Given the description of an element on the screen output the (x, y) to click on. 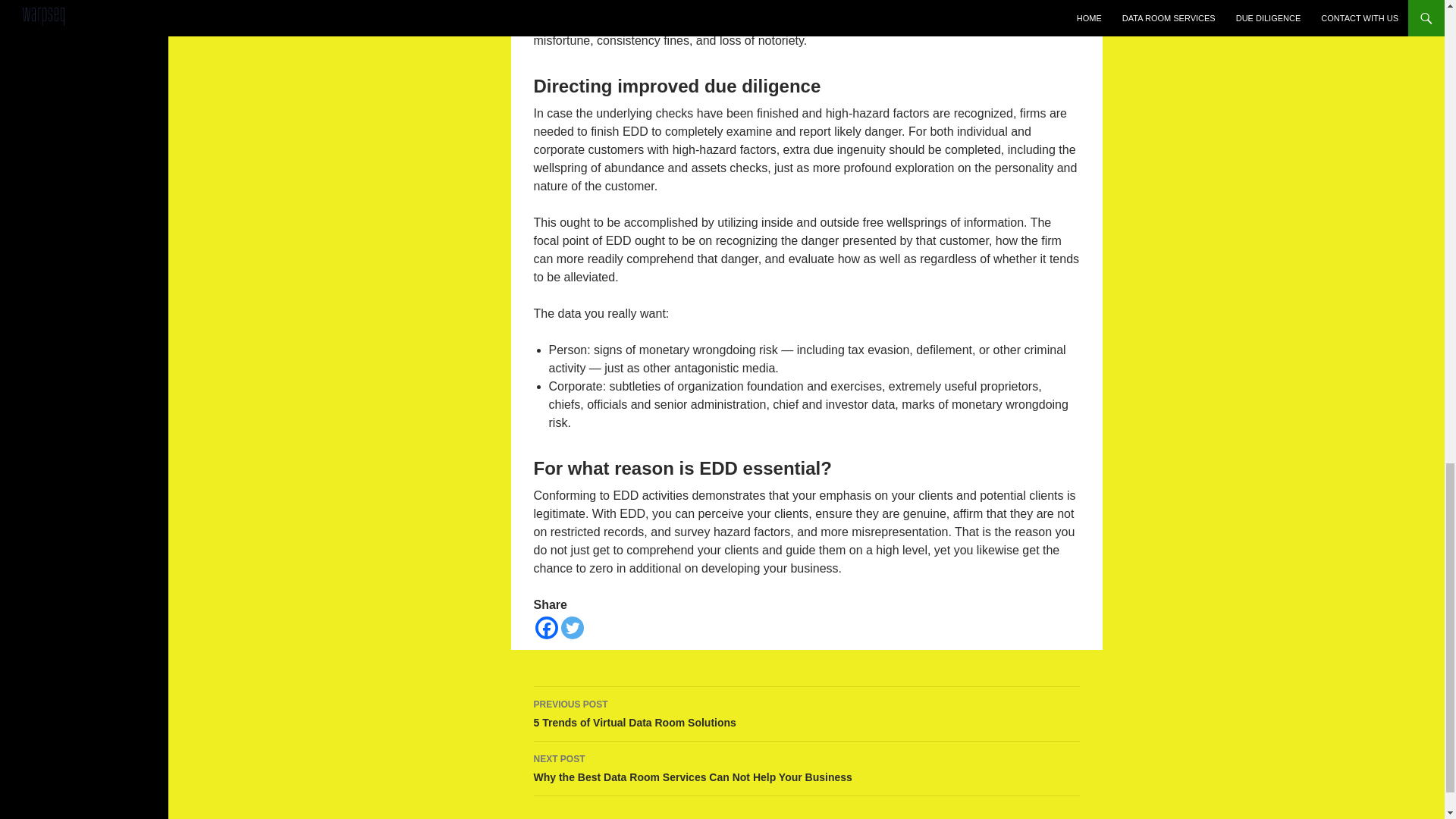
Facebook (546, 627)
Twitter (807, 714)
